Given the description of an element on the screen output the (x, y) to click on. 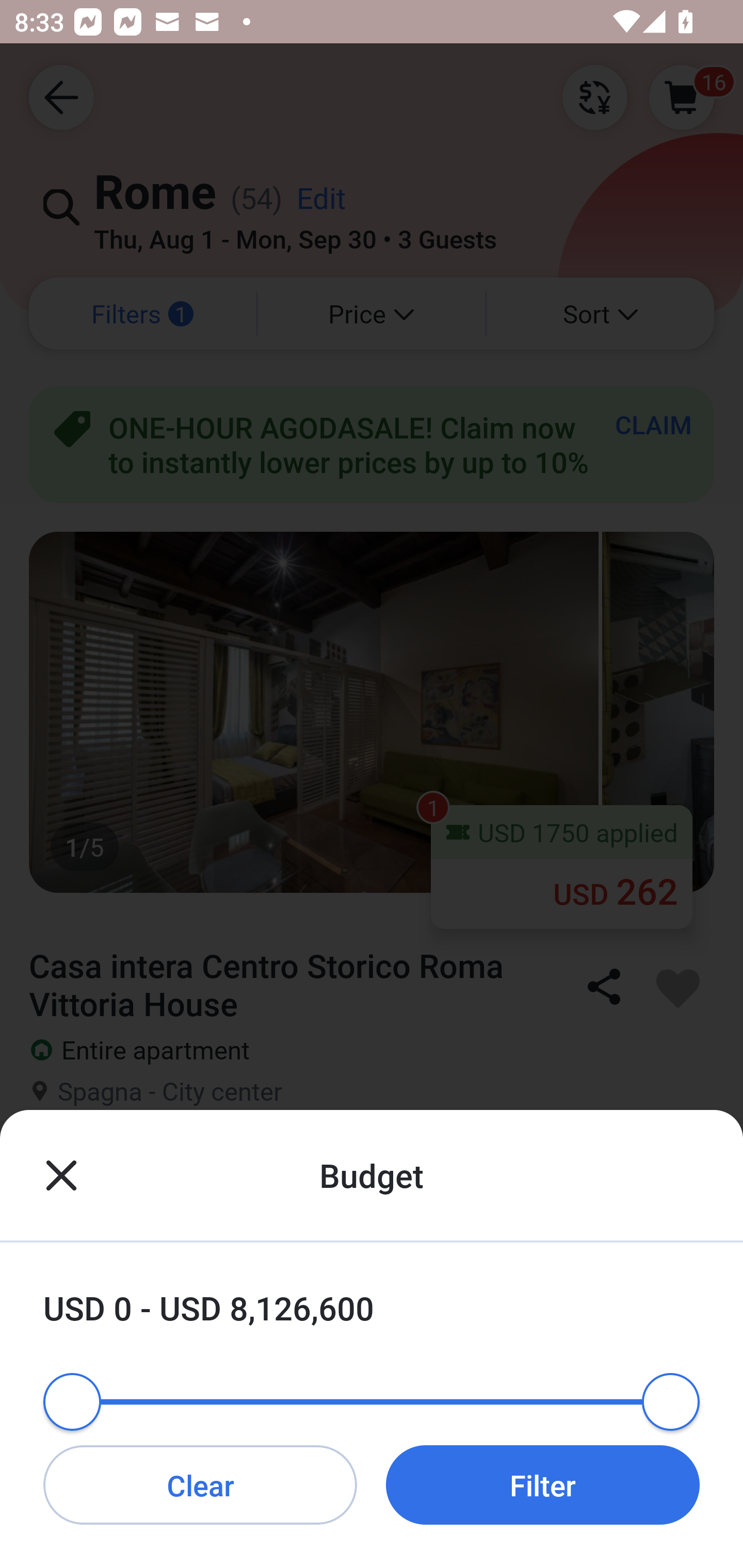
Rare Find (371, 1170)
Clear (200, 1484)
Filter (542, 1484)
